Given the description of an element on the screen output the (x, y) to click on. 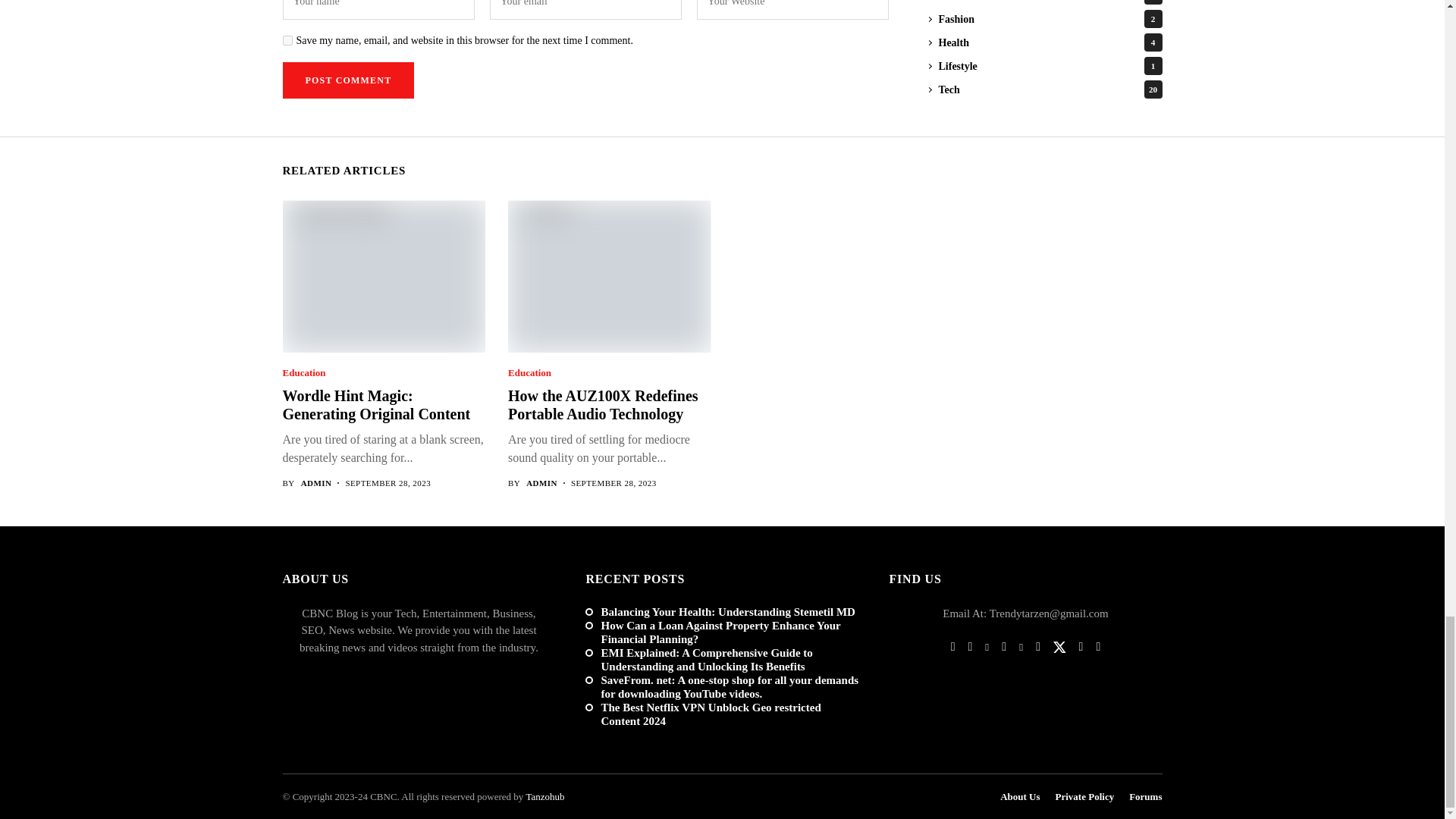
yes (287, 40)
Posts by Admin (541, 483)
Post Comment (347, 80)
Posts by Admin (316, 483)
